Given the description of an element on the screen output the (x, y) to click on. 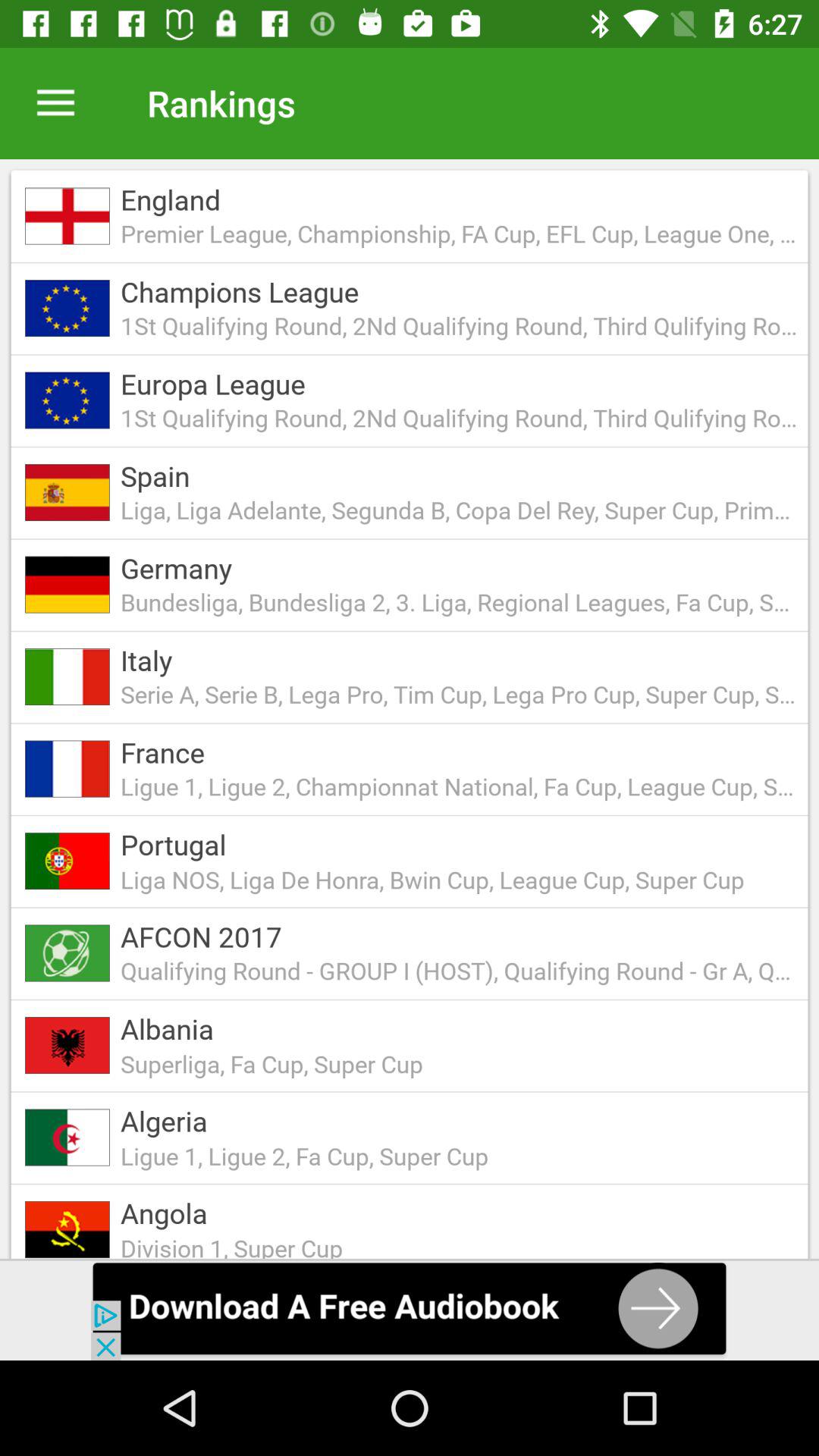
go to advertisemant (409, 1310)
